Given the description of an element on the screen output the (x, y) to click on. 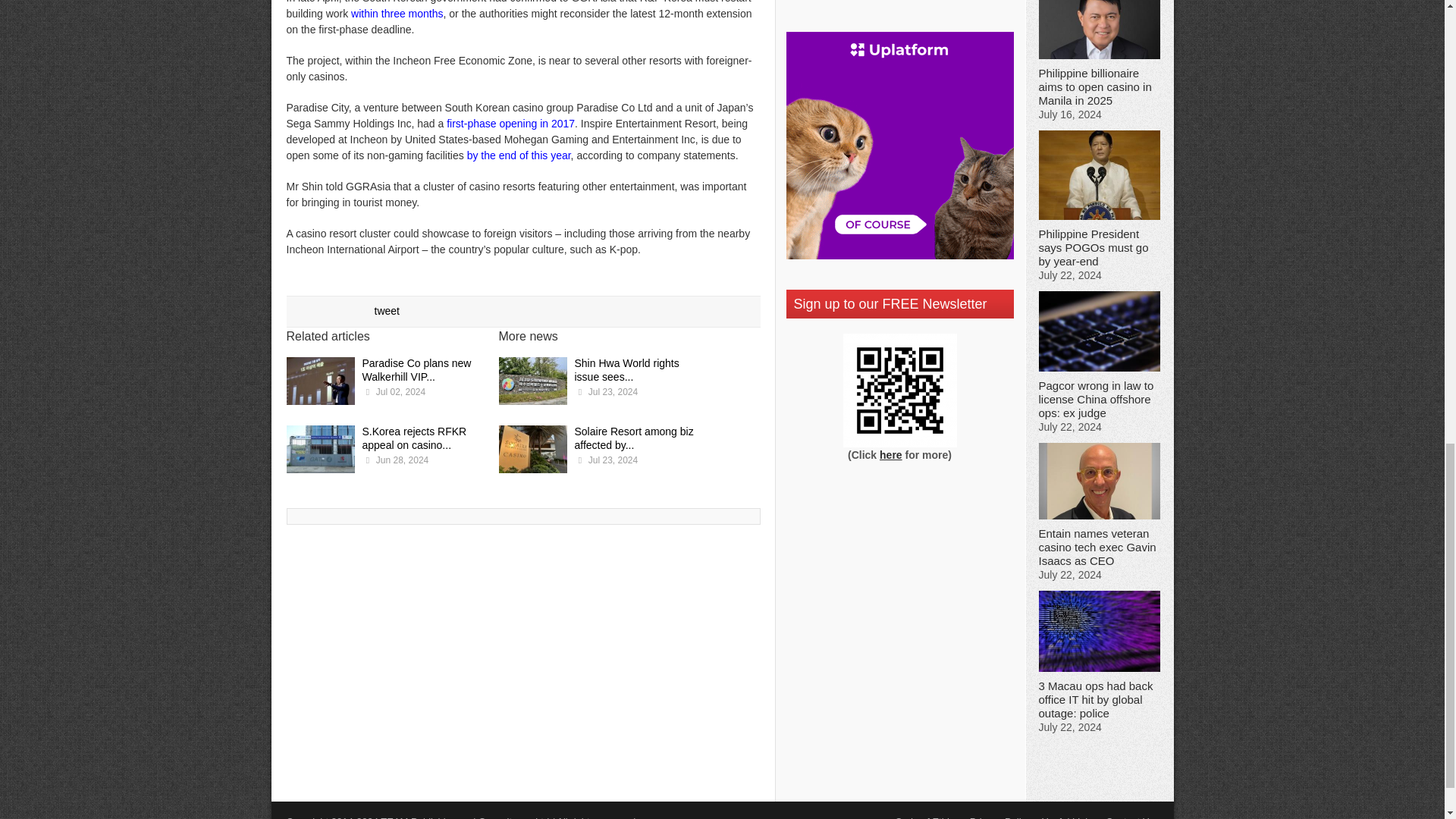
Shin Hwa World rights issue sees... (627, 370)
Shin Hwa World rights issue sees ex-chair Yang dilute stake (533, 383)
Paradise Co plans new Walkerhill VIP... (416, 370)
Paradise Co plans new Walkerhill VIP space, eyes China trade (320, 383)
S.Korea rejects RFKR appeal on casino scheme invalidation (320, 451)
within three months (396, 13)
by the end of this year (518, 155)
first-phase opening in 2017 (510, 123)
Solaire Resort among biz affected by... (634, 438)
Solaire Resort among biz affected by global IT outage (533, 451)
tweet (386, 310)
